Given the description of an element on the screen output the (x, y) to click on. 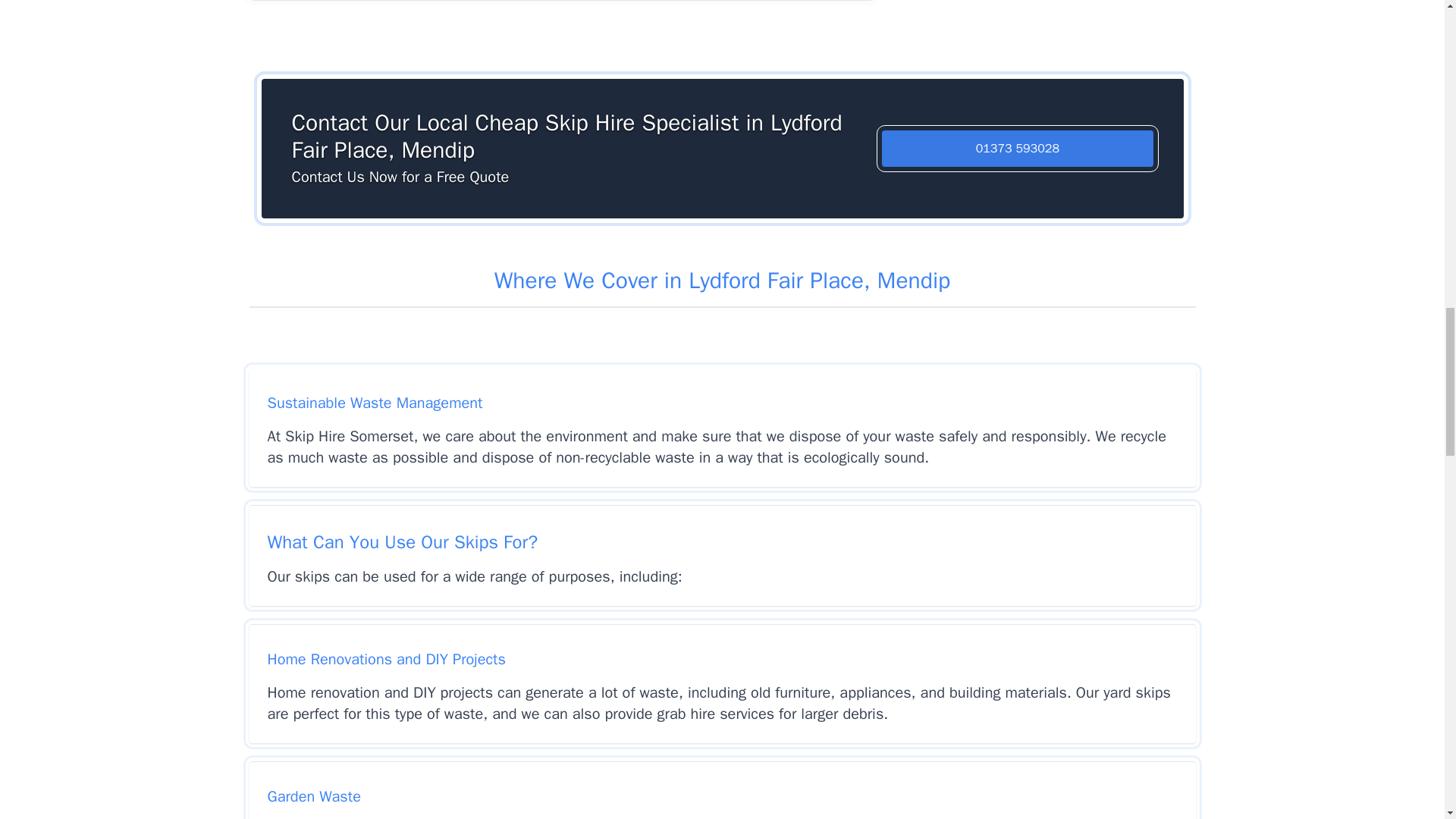
01373 593028 (1017, 148)
